Given the description of an element on the screen output the (x, y) to click on. 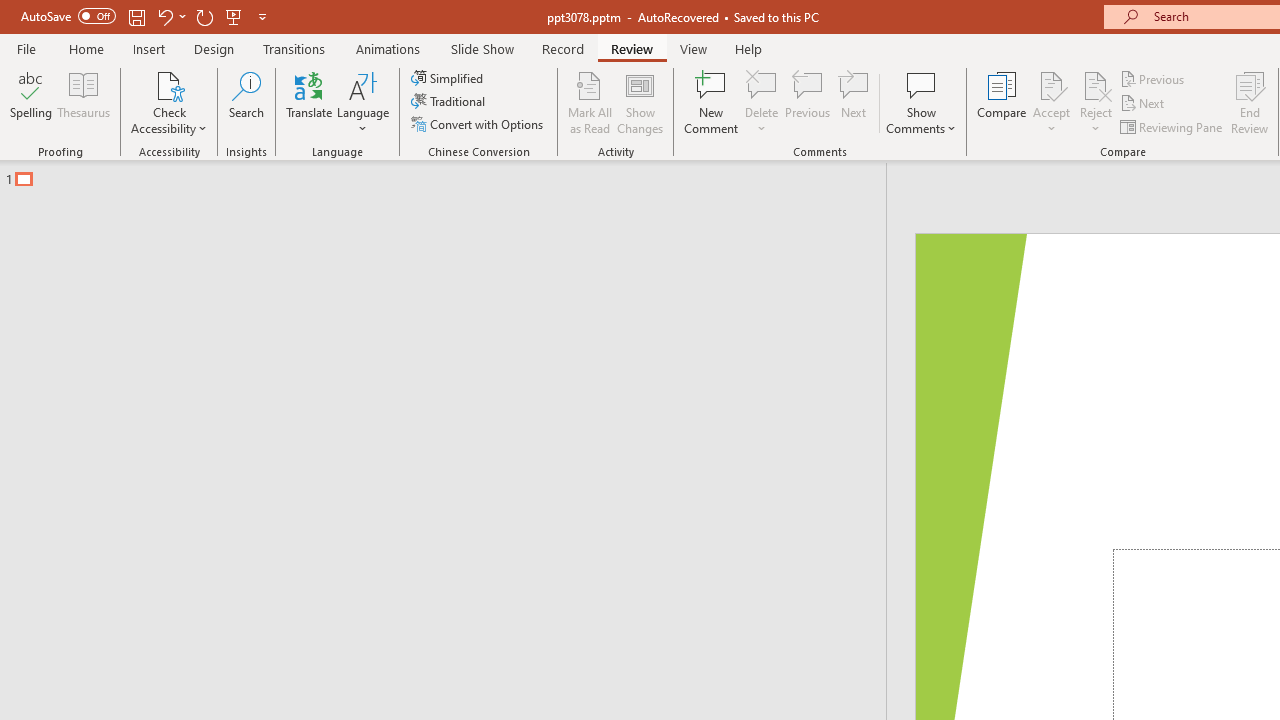
Translate (309, 102)
Thesaurus... (83, 102)
Spelling... (31, 102)
Reviewing Pane (1172, 126)
Show Comments (921, 84)
Delete (762, 102)
Reject Change (1096, 84)
Delete (762, 84)
Reject (1096, 102)
Convert with Options... (479, 124)
Accept Change (1051, 84)
Simplified (449, 78)
